Given the description of an element on the screen output the (x, y) to click on. 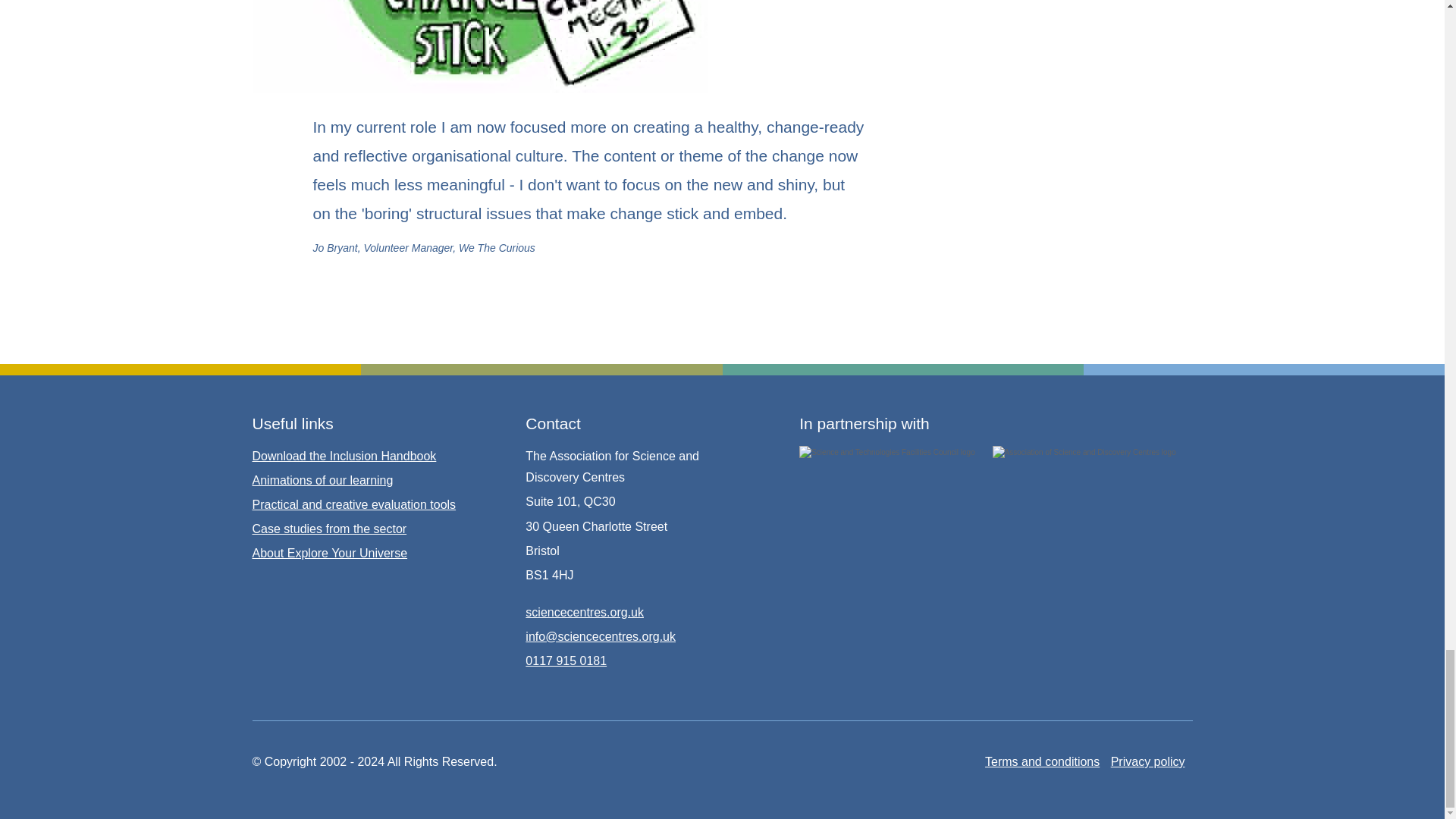
Animations of our learning (322, 480)
Download the Inclusion Handbook (343, 455)
sciencecentres.org.uk (584, 612)
Case studies from the sector (328, 528)
Practical and creative evaluation tools (353, 504)
About Explore Your Universe (329, 553)
